Given the description of an element on the screen output the (x, y) to click on. 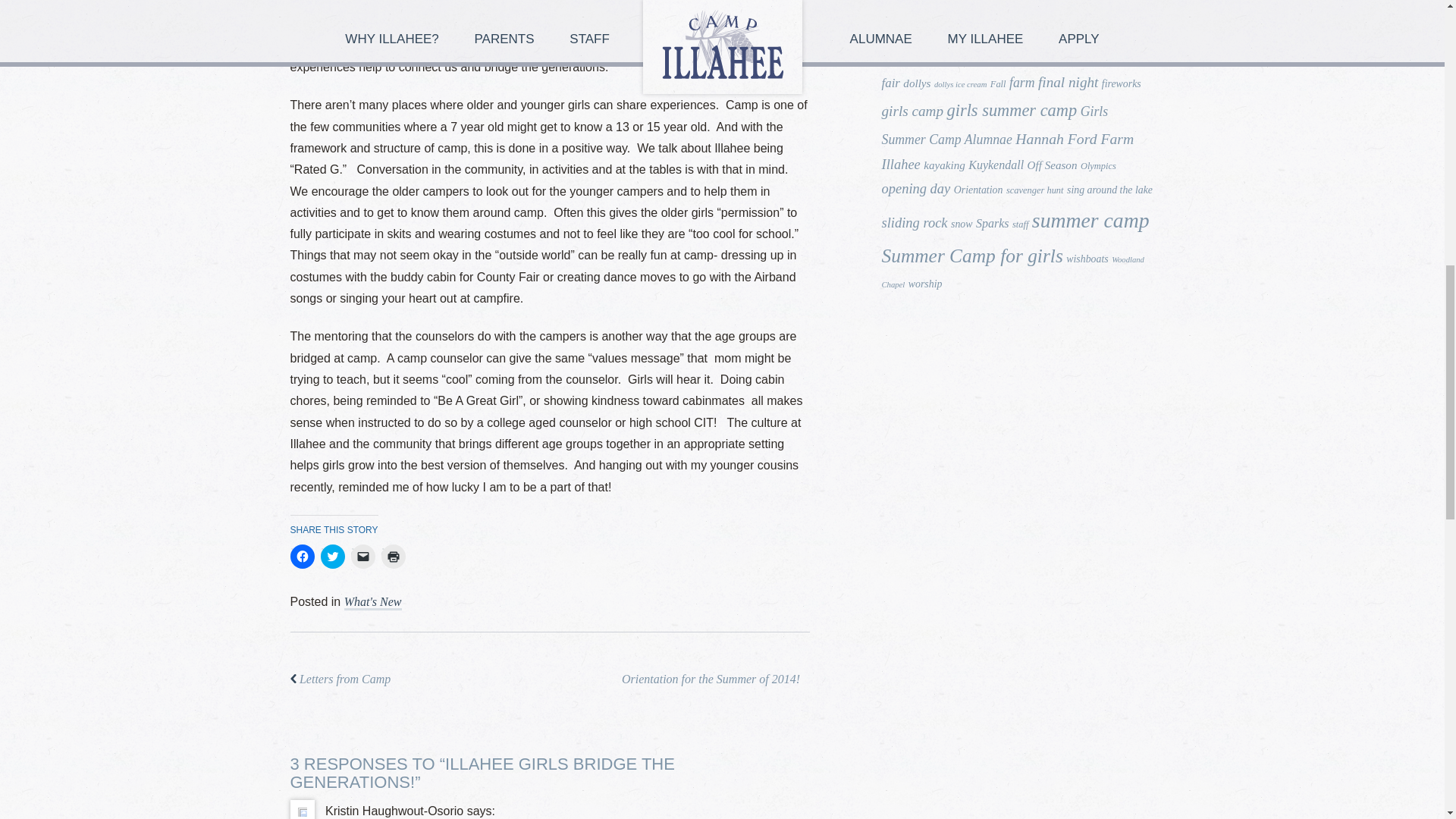
Click to email a link to a friend (362, 556)
Click to share on Facebook (301, 556)
Click to share on Twitter (331, 556)
Click to print (392, 556)
